Given the description of an element on the screen output the (x, y) to click on. 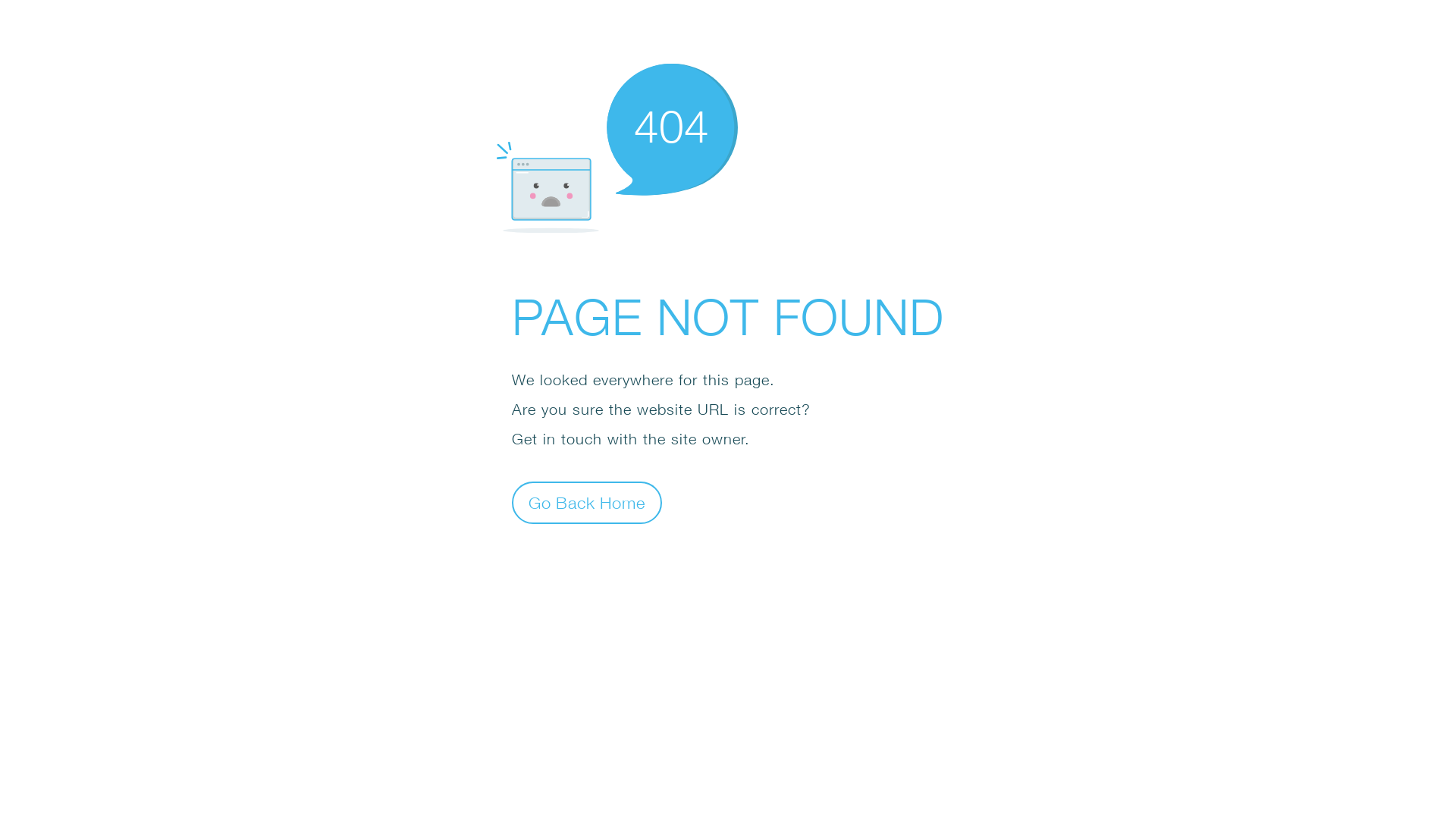
Go Back Home Element type: text (586, 502)
